Given the description of an element on the screen output the (x, y) to click on. 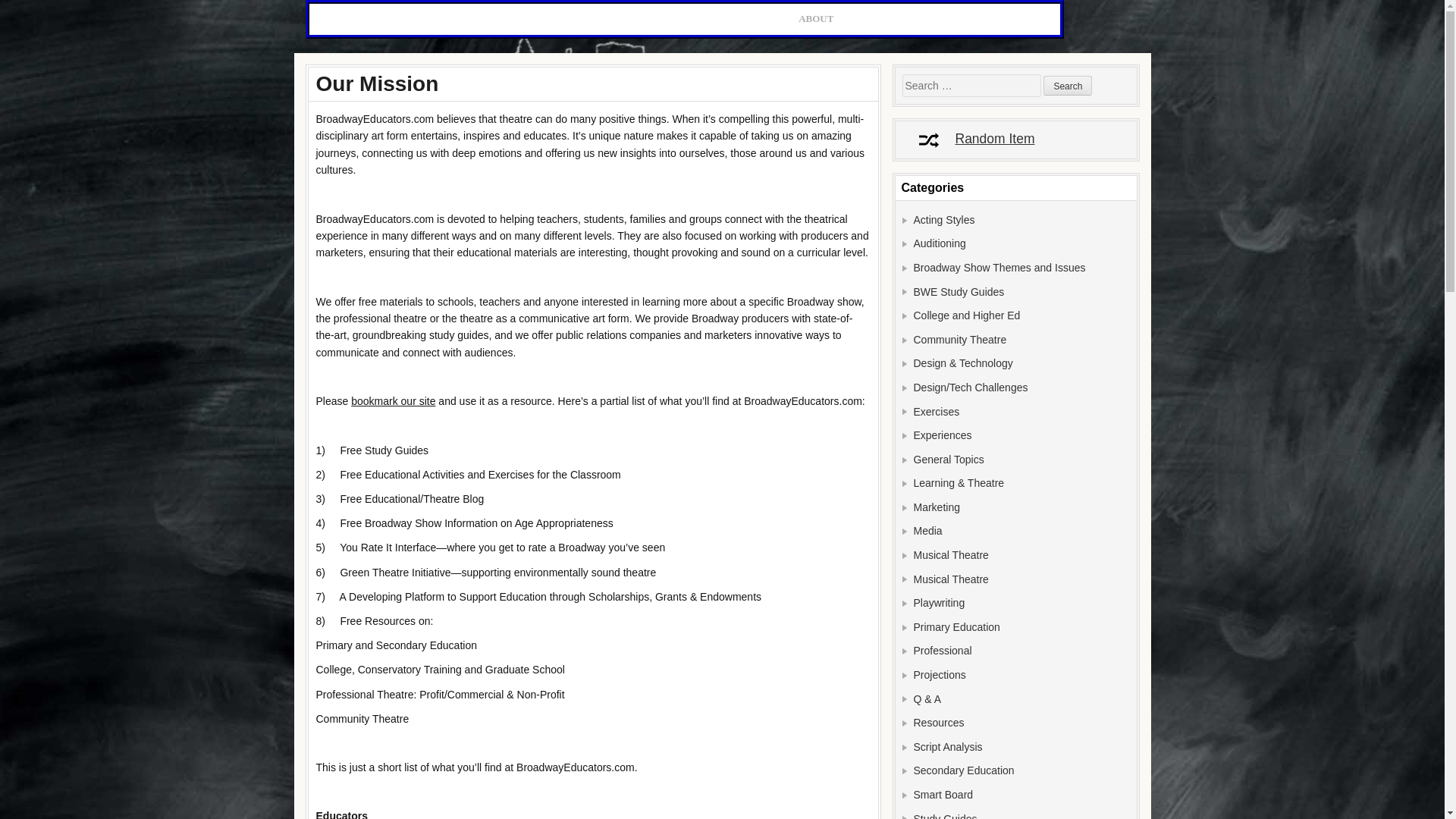
ALL TICKETS (881, 19)
Experiences (941, 435)
Random Item (968, 138)
BWE Study Guides (958, 291)
Search (1067, 85)
EDUCATION LEVEL (650, 19)
EXERCISES (397, 19)
ABOUT (815, 19)
General Topics (948, 459)
Acting Styles (943, 219)
Search (1067, 85)
DISCIPLINE (469, 19)
Auditioning (938, 243)
College and Higher Ed (966, 315)
Community Theatre (959, 339)
